Given the description of an element on the screen output the (x, y) to click on. 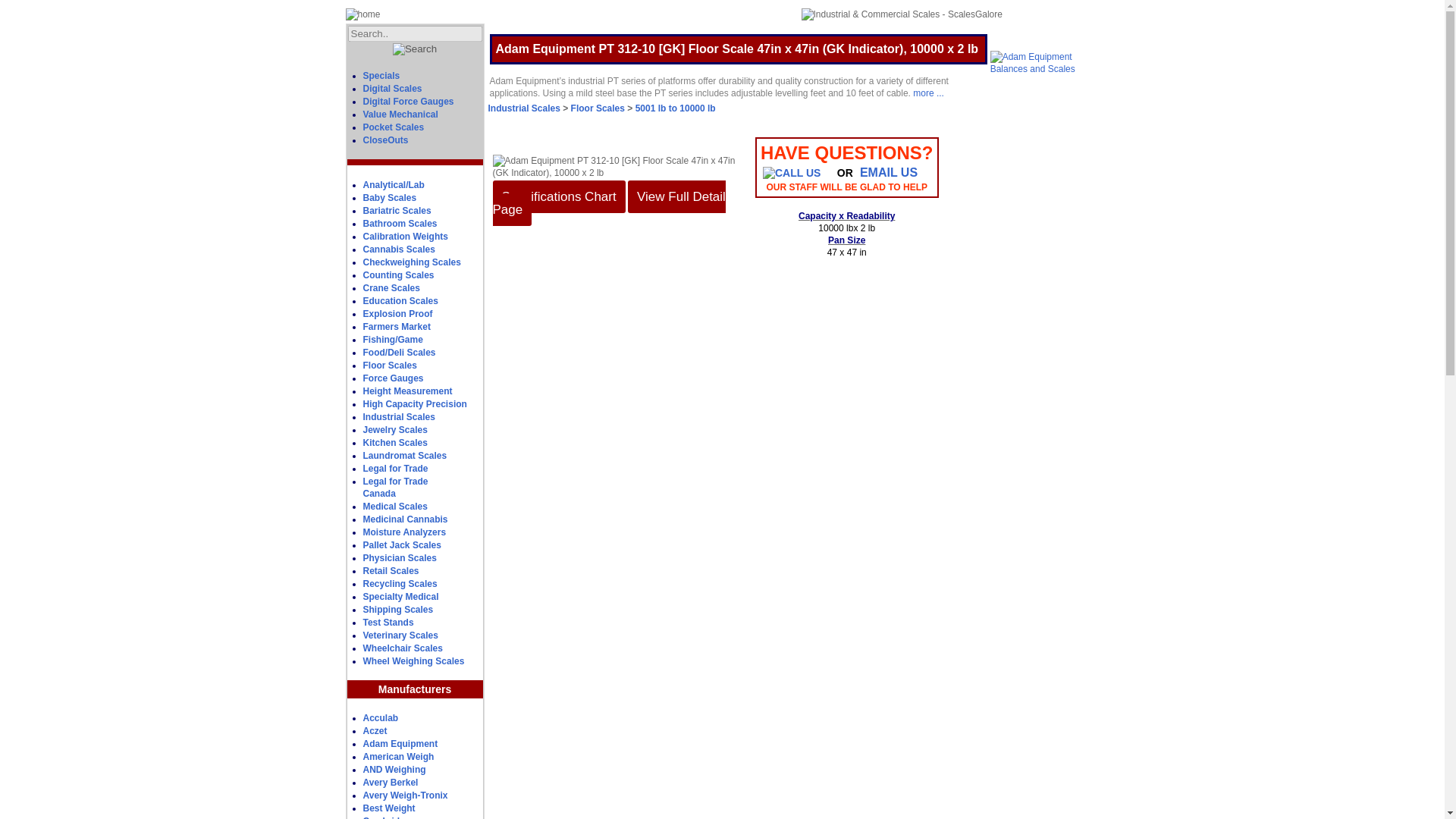
Specialty Medical (395, 486)
Industrial Scales (400, 596)
Retail Scales (397, 416)
Shipping Scales (390, 570)
Jewelry Scales (397, 609)
Medicinal Cannabis (394, 429)
Force Gauges (404, 519)
Cannabis Scales (392, 378)
